Given the description of an element on the screen output the (x, y) to click on. 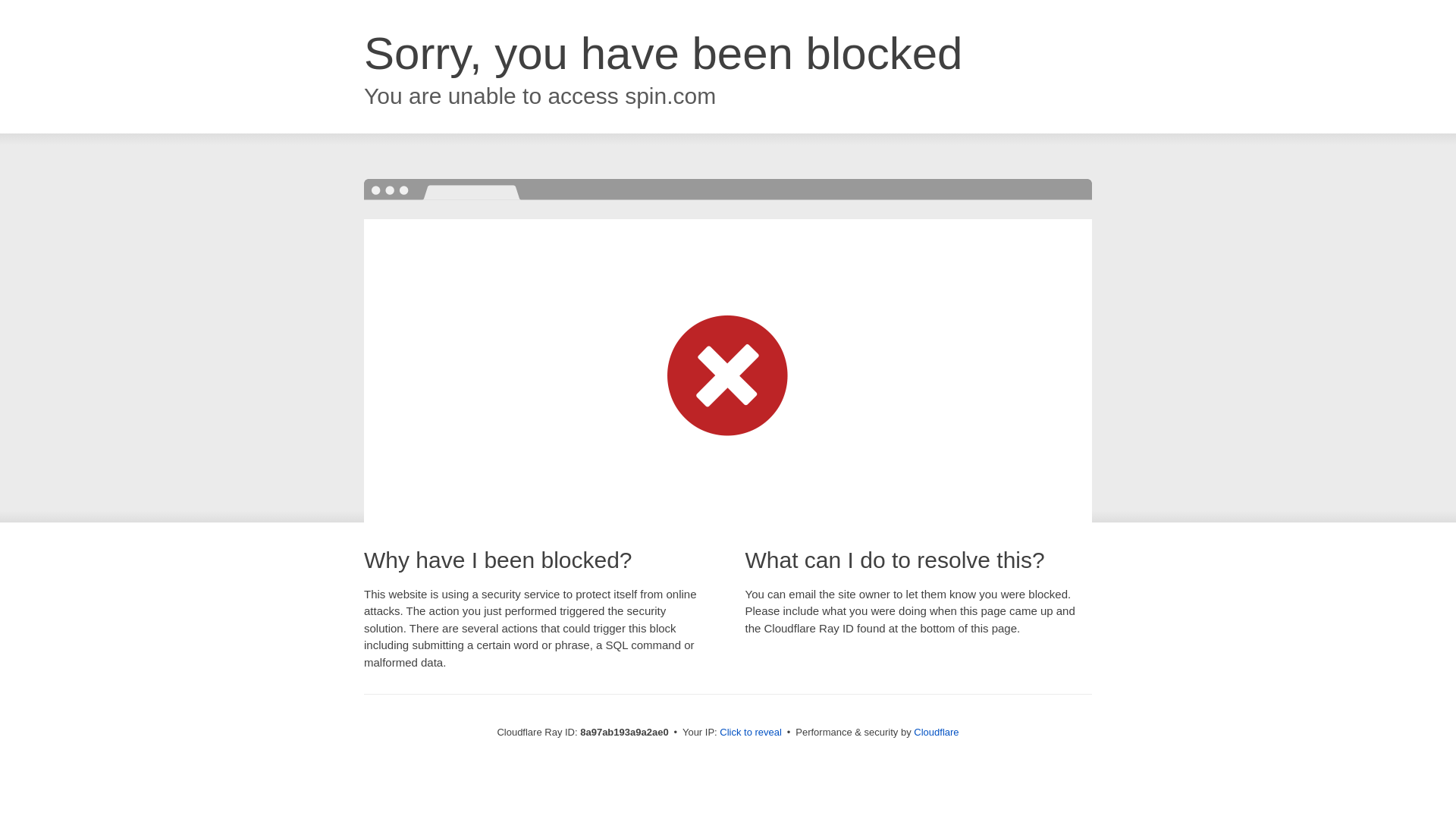
Click to reveal (750, 732)
Cloudflare (936, 731)
